Given the description of an element on the screen output the (x, y) to click on. 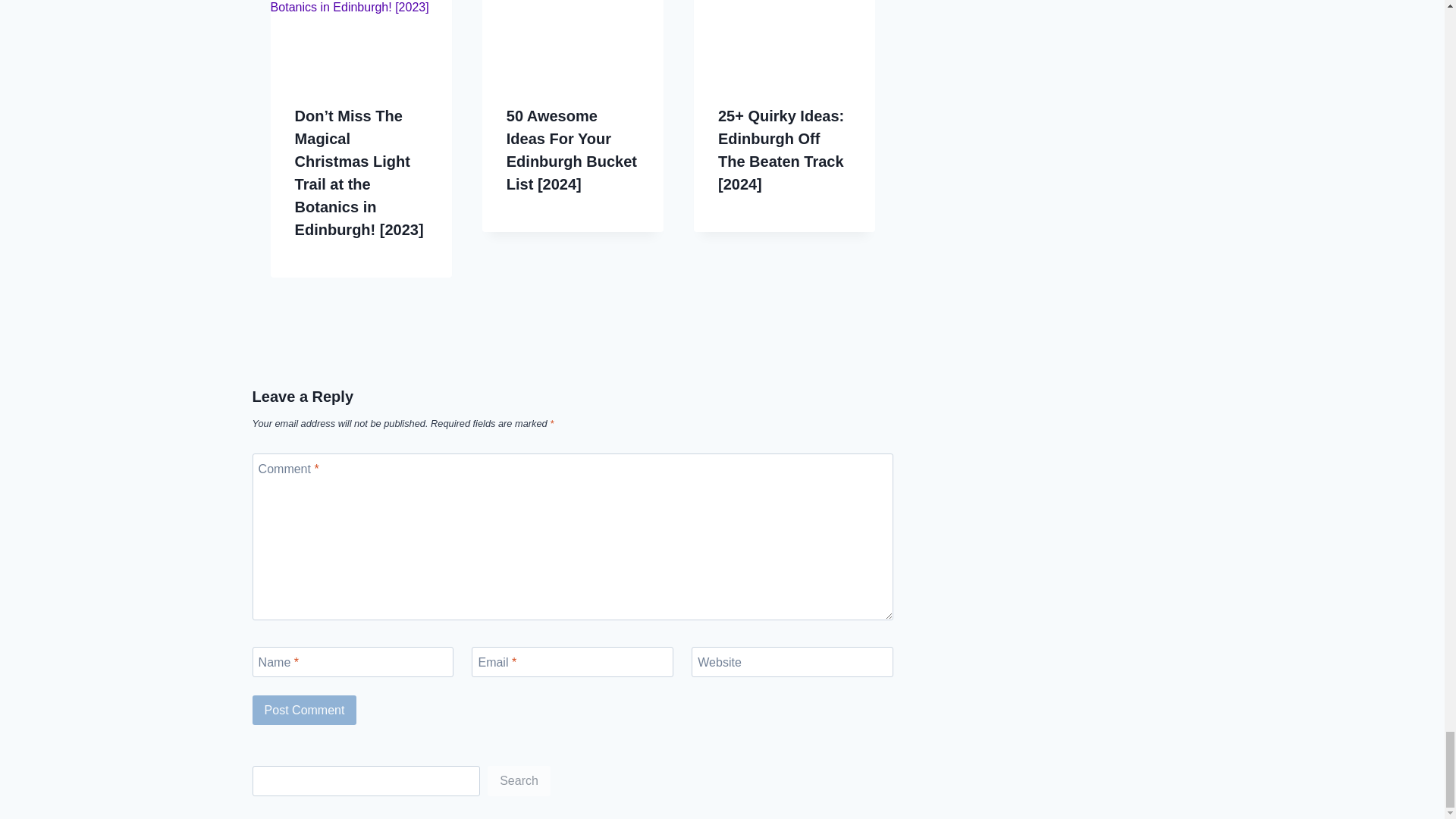
Post Comment (303, 709)
